Given the description of an element on the screen output the (x, y) to click on. 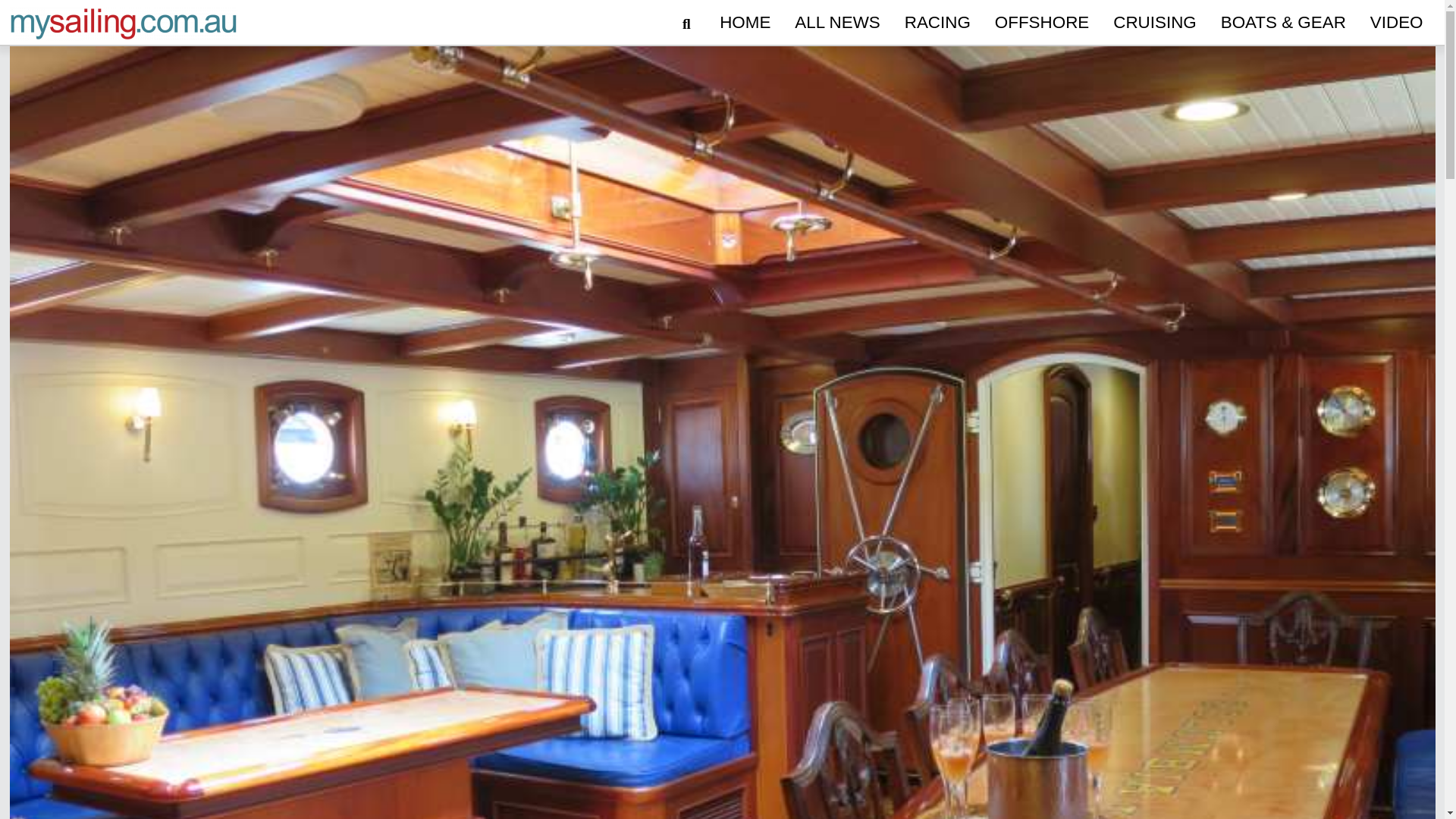
ALL NEWS (837, 22)
VIDEO (1396, 22)
Video (1396, 22)
HOME (744, 22)
OFFSHORE (1041, 22)
CRUISING (1154, 22)
Cruising (1154, 22)
RACING (937, 22)
Offshore (1041, 22)
Racing (937, 22)
